Given the description of an element on the screen output the (x, y) to click on. 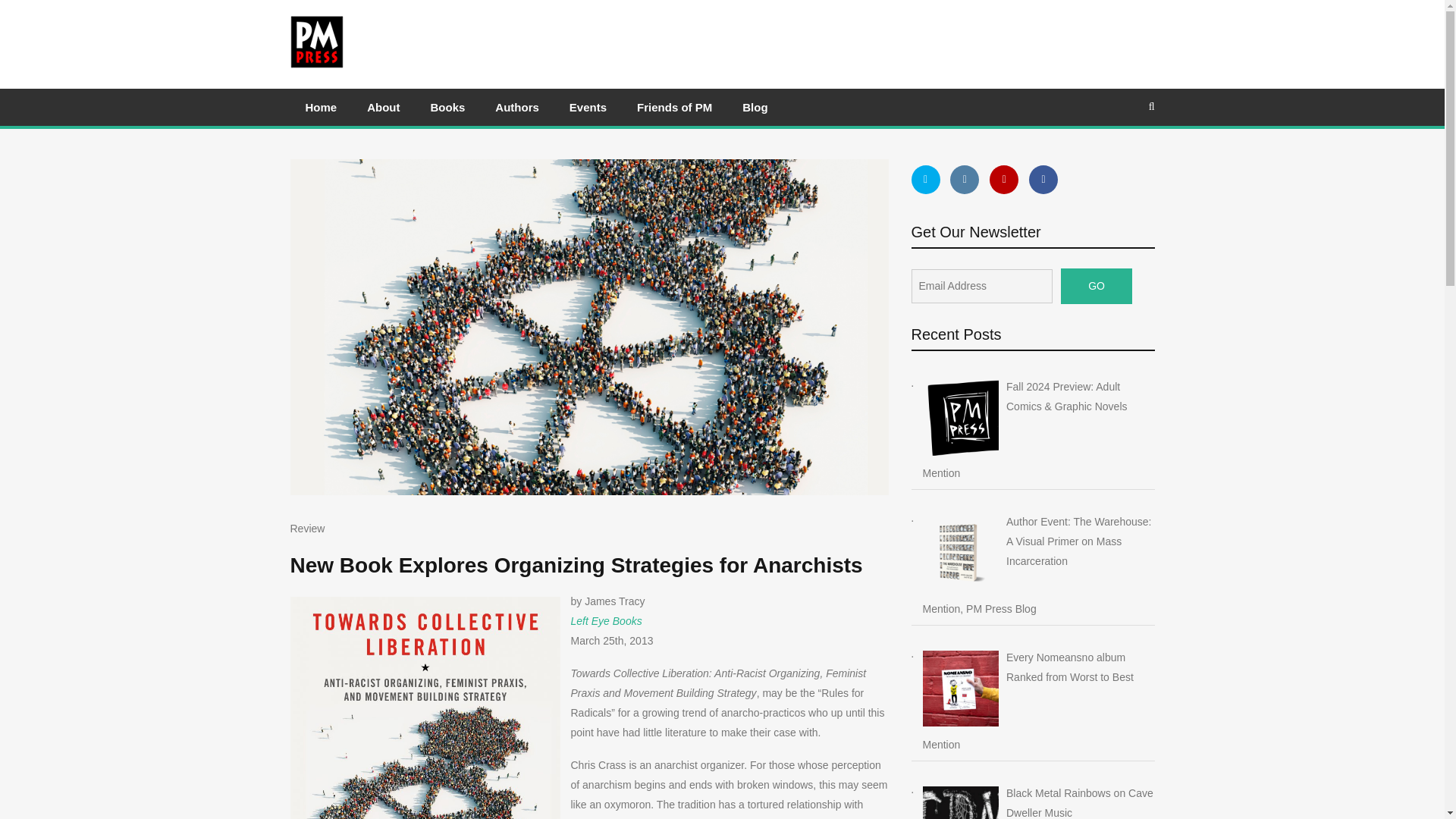
About (383, 107)
Left Eye Books (606, 621)
Review (306, 528)
Home (320, 107)
GO (1096, 285)
Books (447, 107)
Blog (754, 107)
Friends of PM (673, 107)
Events (587, 107)
Authors (517, 107)
